Given the description of an element on the screen output the (x, y) to click on. 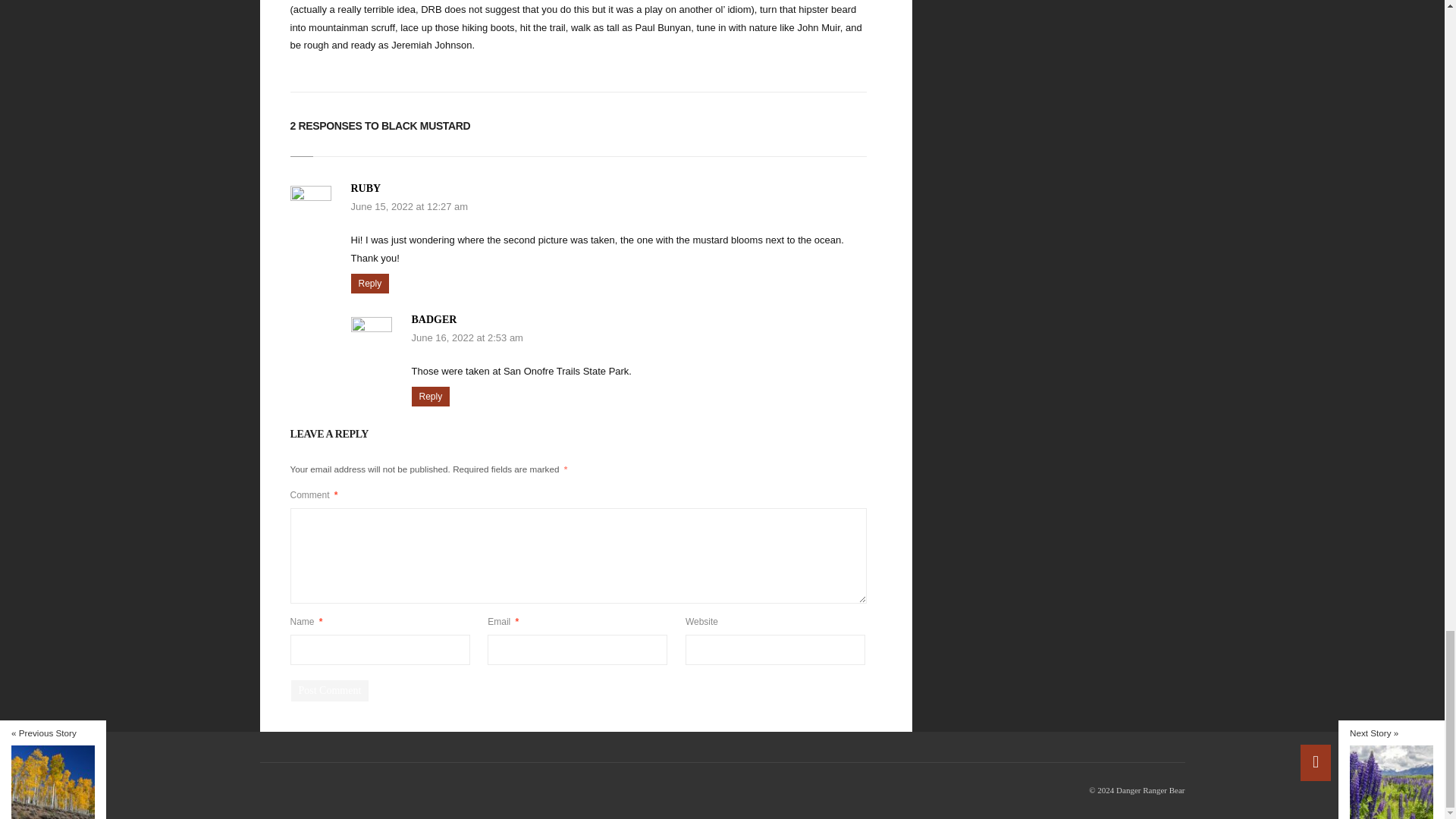
Reply (369, 283)
June 15, 2022 at 12:27 am (408, 206)
June 16, 2022 at 2:53 am (466, 337)
Post Comment (330, 690)
